Given the description of an element on the screen output the (x, y) to click on. 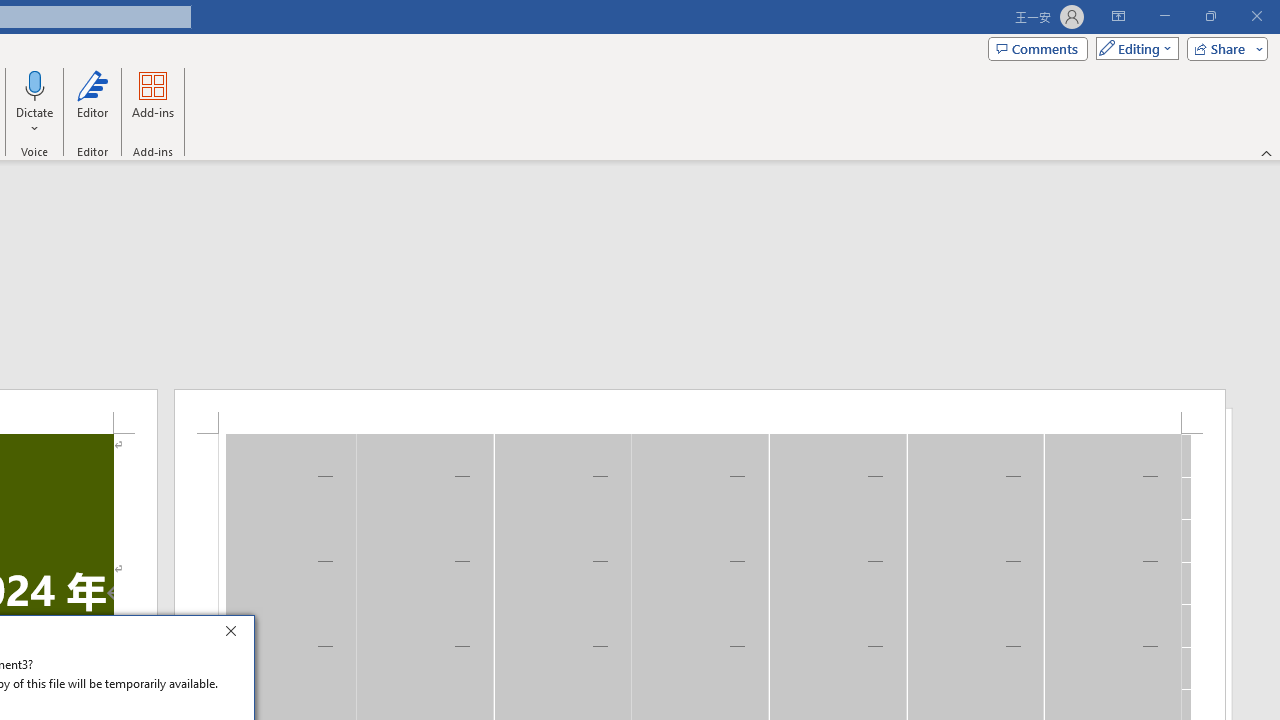
Header -Section 1- (700, 411)
